Given the description of an element on the screen output the (x, y) to click on. 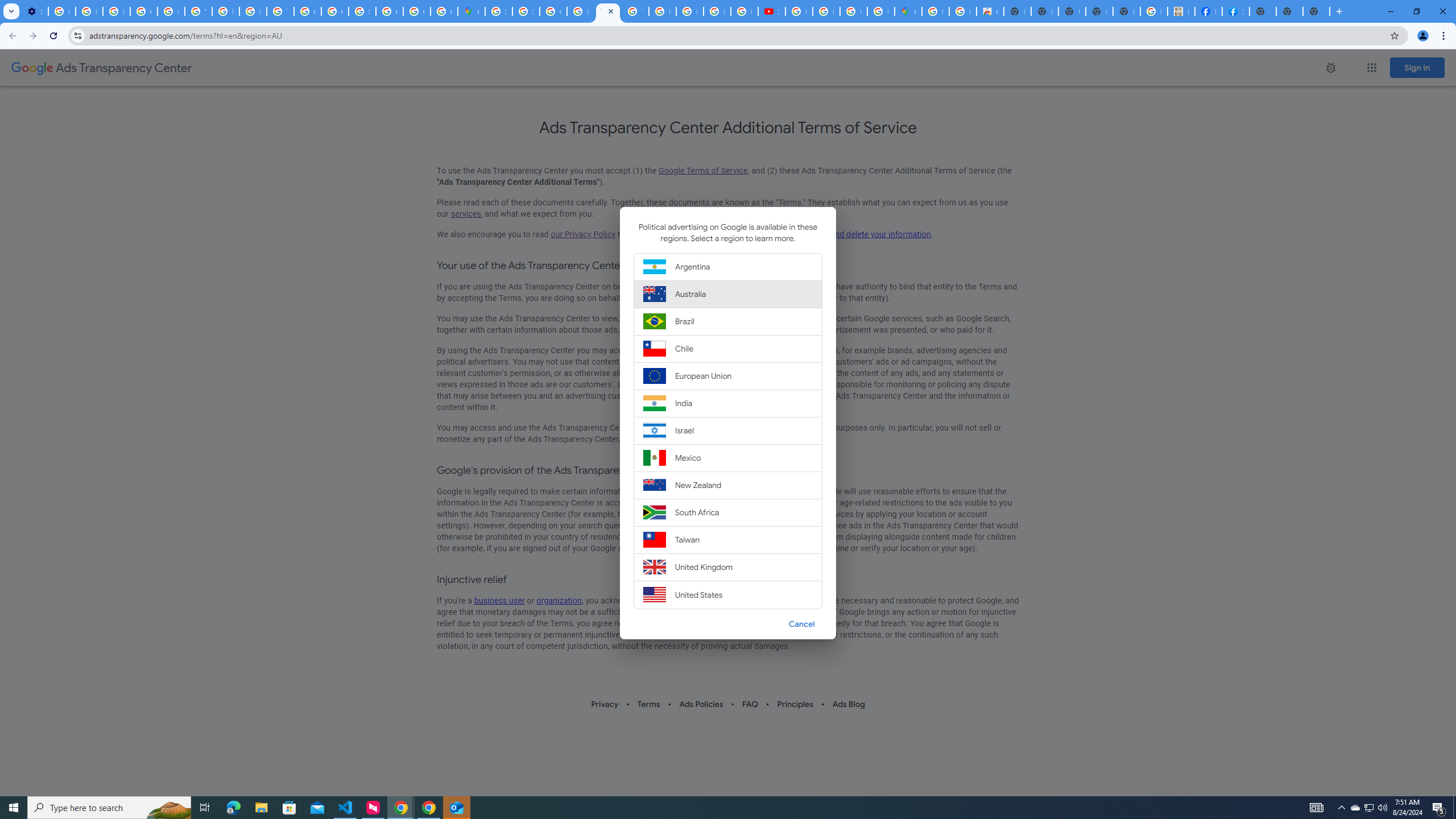
Cancel (801, 623)
Send Bug Report (1330, 67)
organization (558, 601)
Ads Policies (700, 703)
Ads Blog (847, 703)
Terms and Conditions (607, 11)
